Given the description of an element on the screen output the (x, y) to click on. 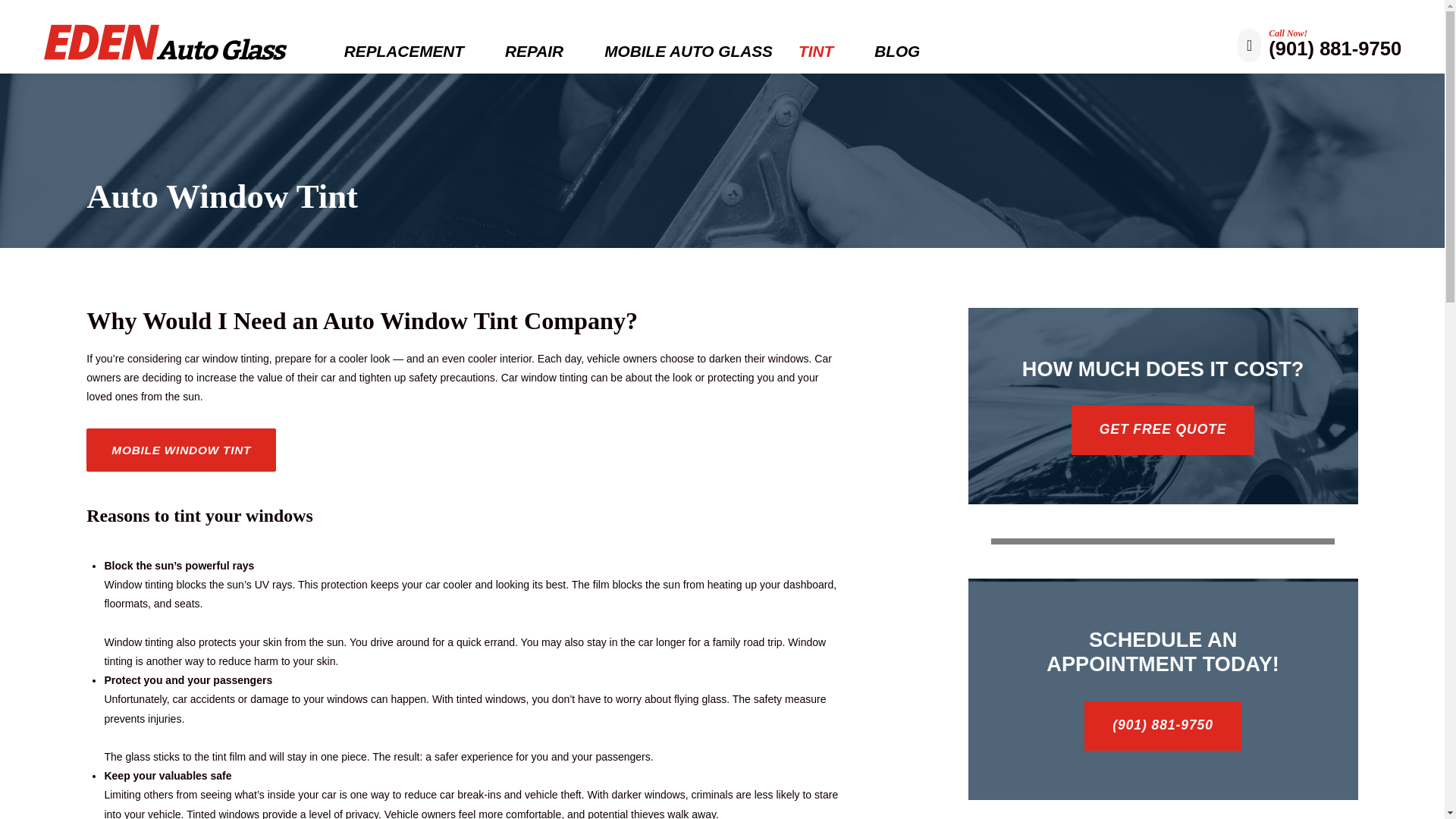
BLOG (897, 51)
REPAIR (541, 51)
MOBILE WINDOW TINT (180, 449)
EDEN Auto Glass (167, 40)
REPLACEMENT (411, 51)
MOBILE AUTO GLASS (688, 51)
TINT (823, 51)
